Given the description of an element on the screen output the (x, y) to click on. 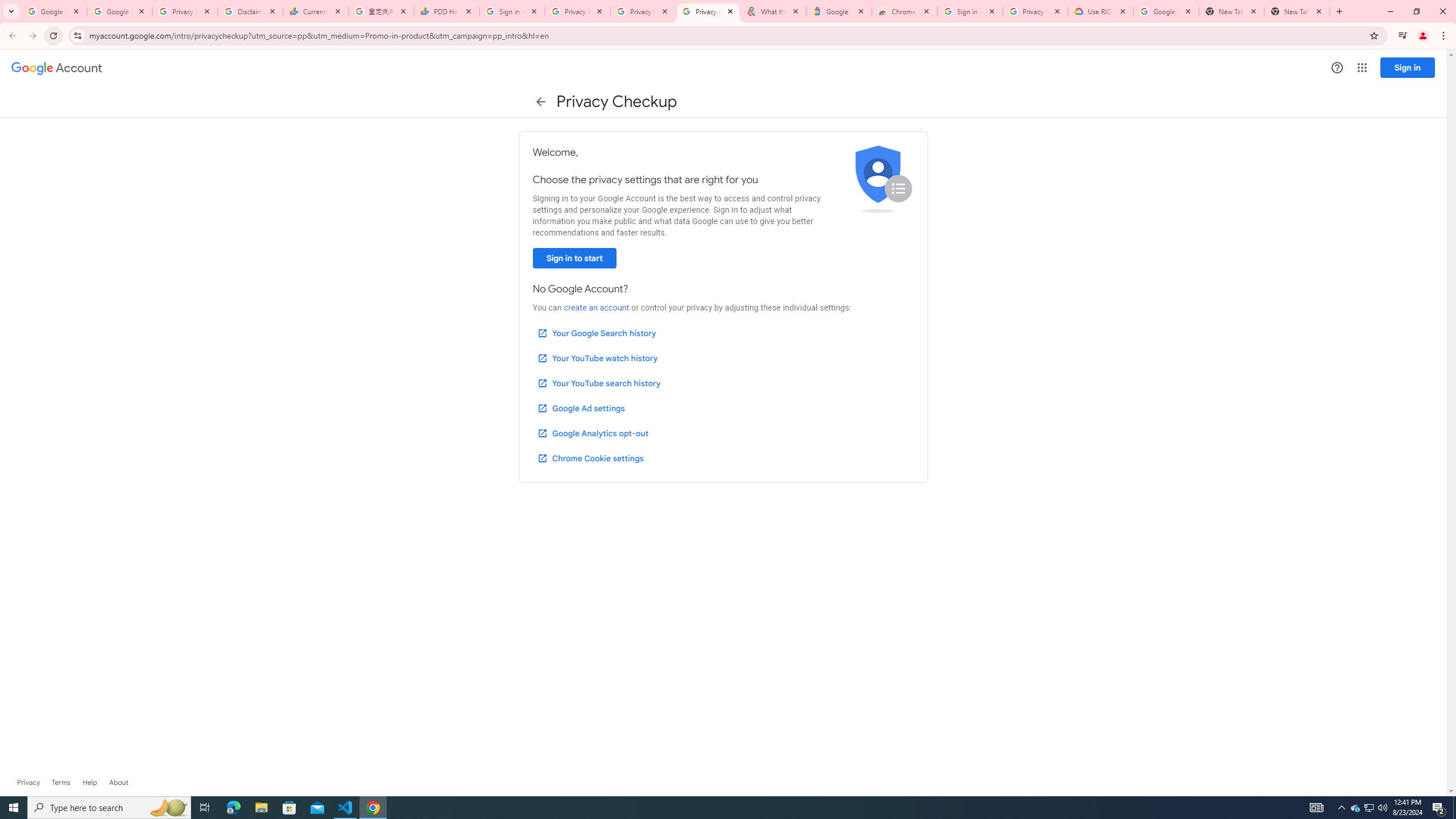
Google Ad settings (580, 408)
Your YouTube search history (598, 383)
Sign in to start (573, 258)
Learn more about Google Account (118, 782)
PDD Holdings Inc - ADR (PDD) Price & News - Google Finance (446, 11)
